Given the description of an element on the screen output the (x, y) to click on. 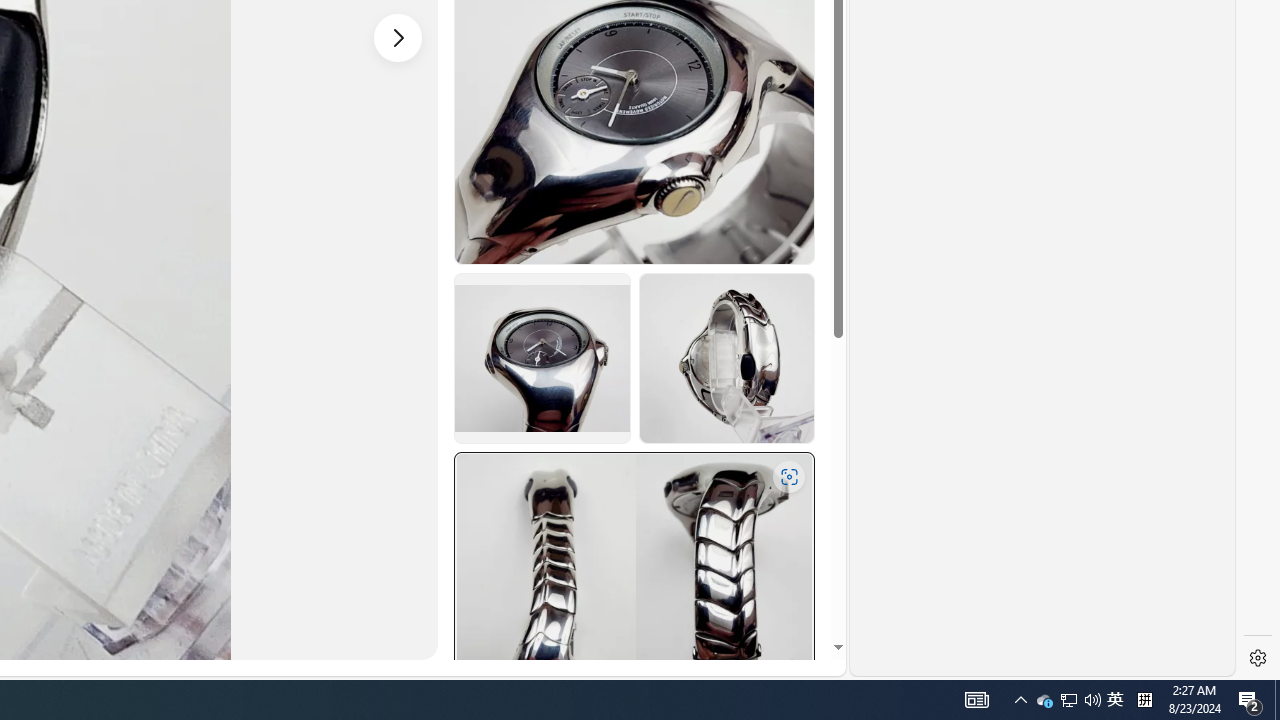
Next image - Item images thumbnails (397, 37)
